Given the description of an element on the screen output the (x, y) to click on. 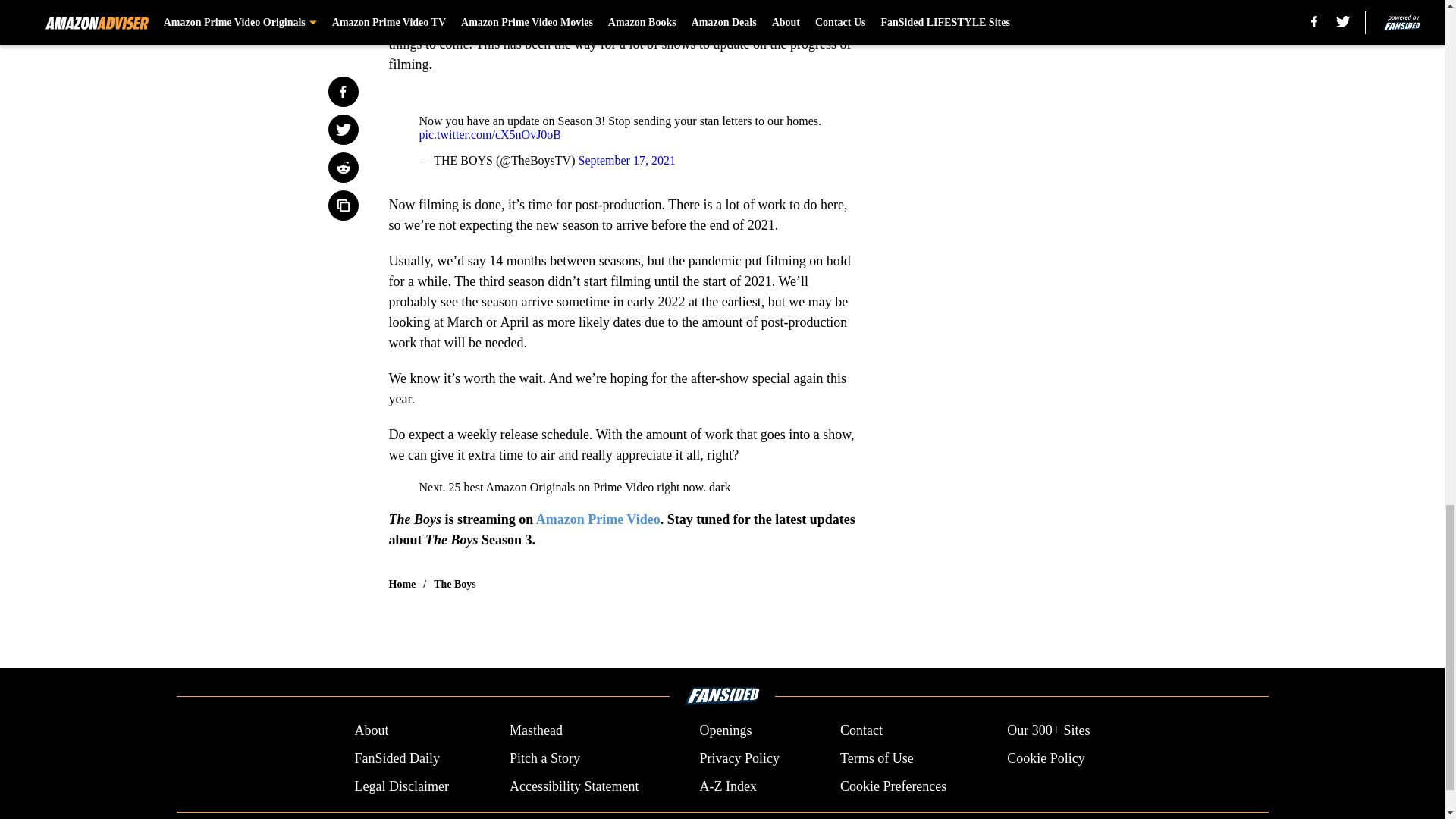
FanSided Daily (396, 758)
Contact (861, 730)
Amazon Prime Video (598, 519)
September 17, 2021 (626, 160)
Privacy Policy (738, 758)
The Boys (454, 584)
Masthead (535, 730)
About (370, 730)
Cookie Policy (1045, 758)
Pitch a Story (544, 758)
Home (401, 584)
Openings (724, 730)
Terms of Use (877, 758)
